Given the description of an element on the screen output the (x, y) to click on. 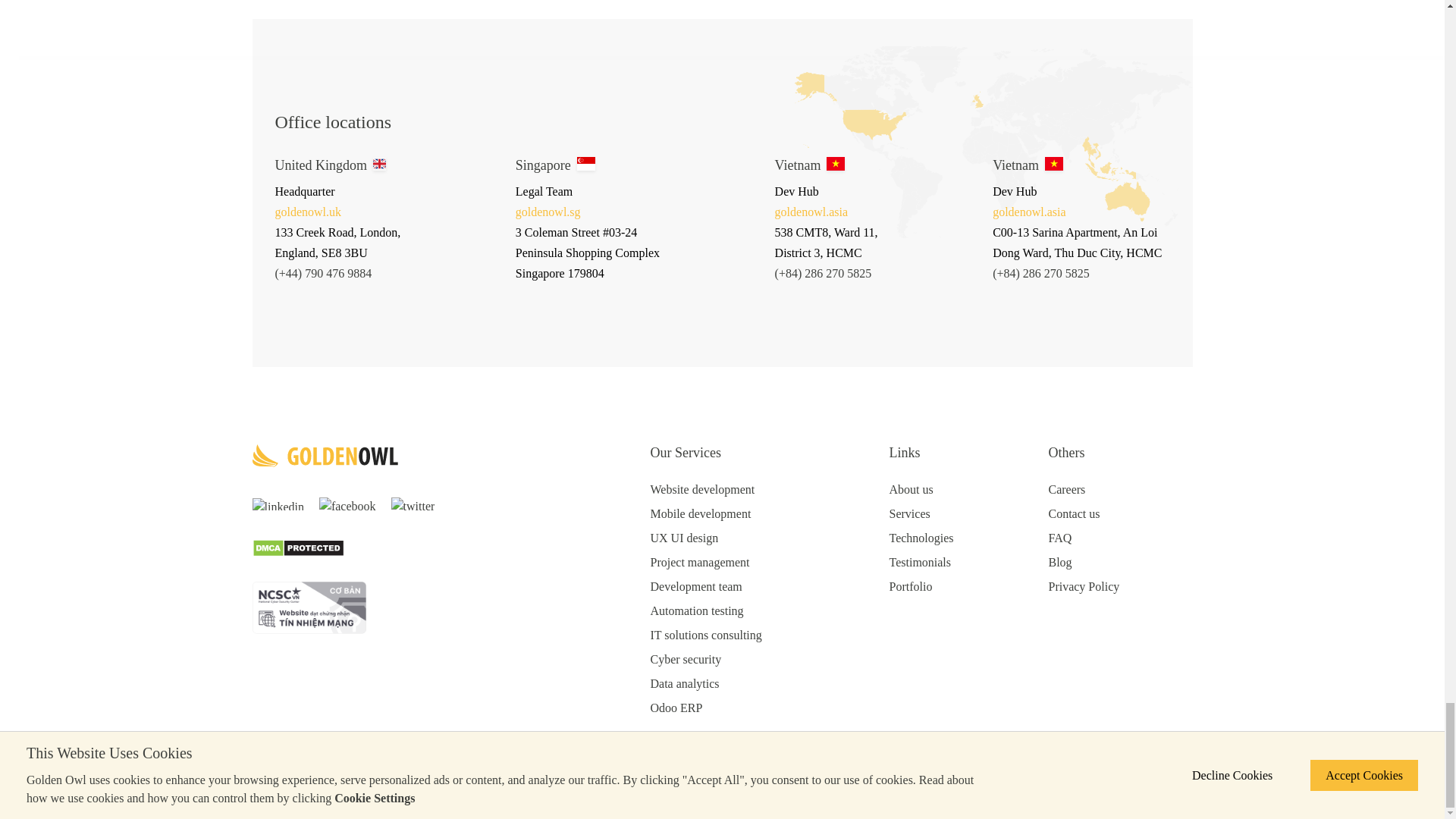
DMCA.com Protection Status (297, 546)
